Given the description of an element on the screen output the (x, y) to click on. 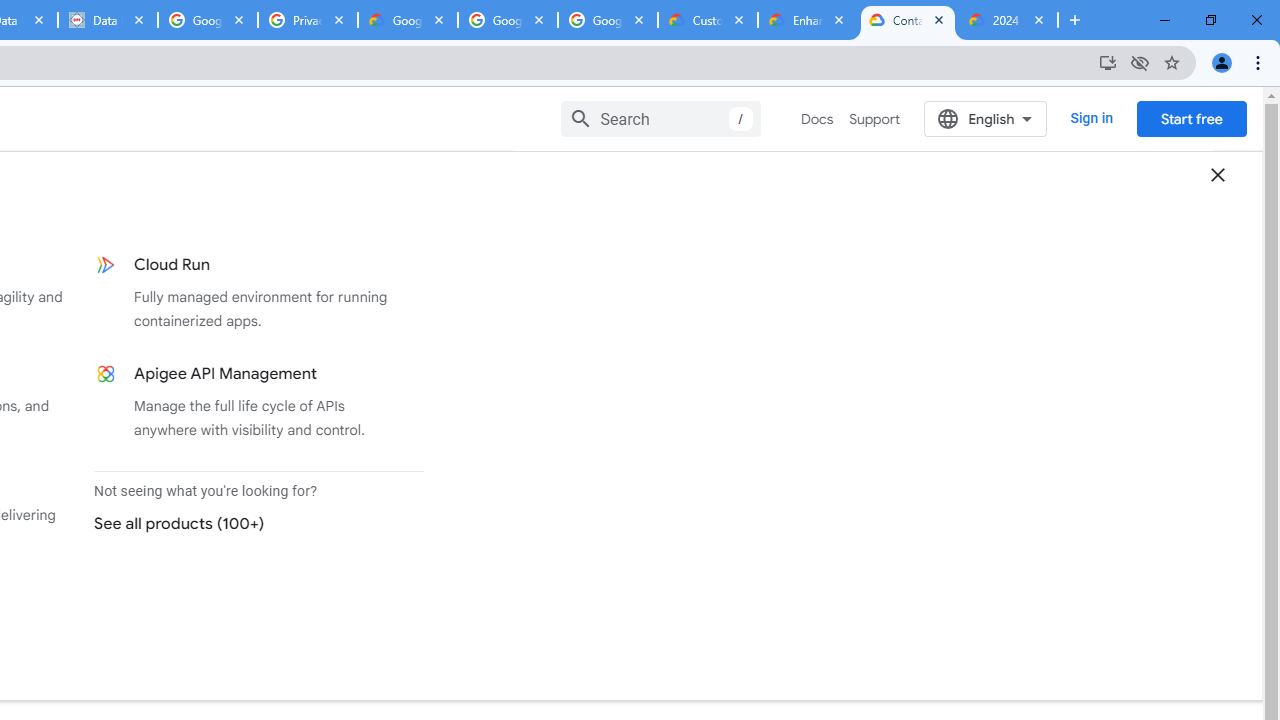
Customer Care | Google Cloud (707, 20)
Install Google Cloud (1107, 62)
Docs (817, 119)
Google Workspace - Specific Terms (508, 20)
Start free (1191, 118)
Google Cloud Terms Directory | Google Cloud (408, 20)
